Given the description of an element on the screen output the (x, y) to click on. 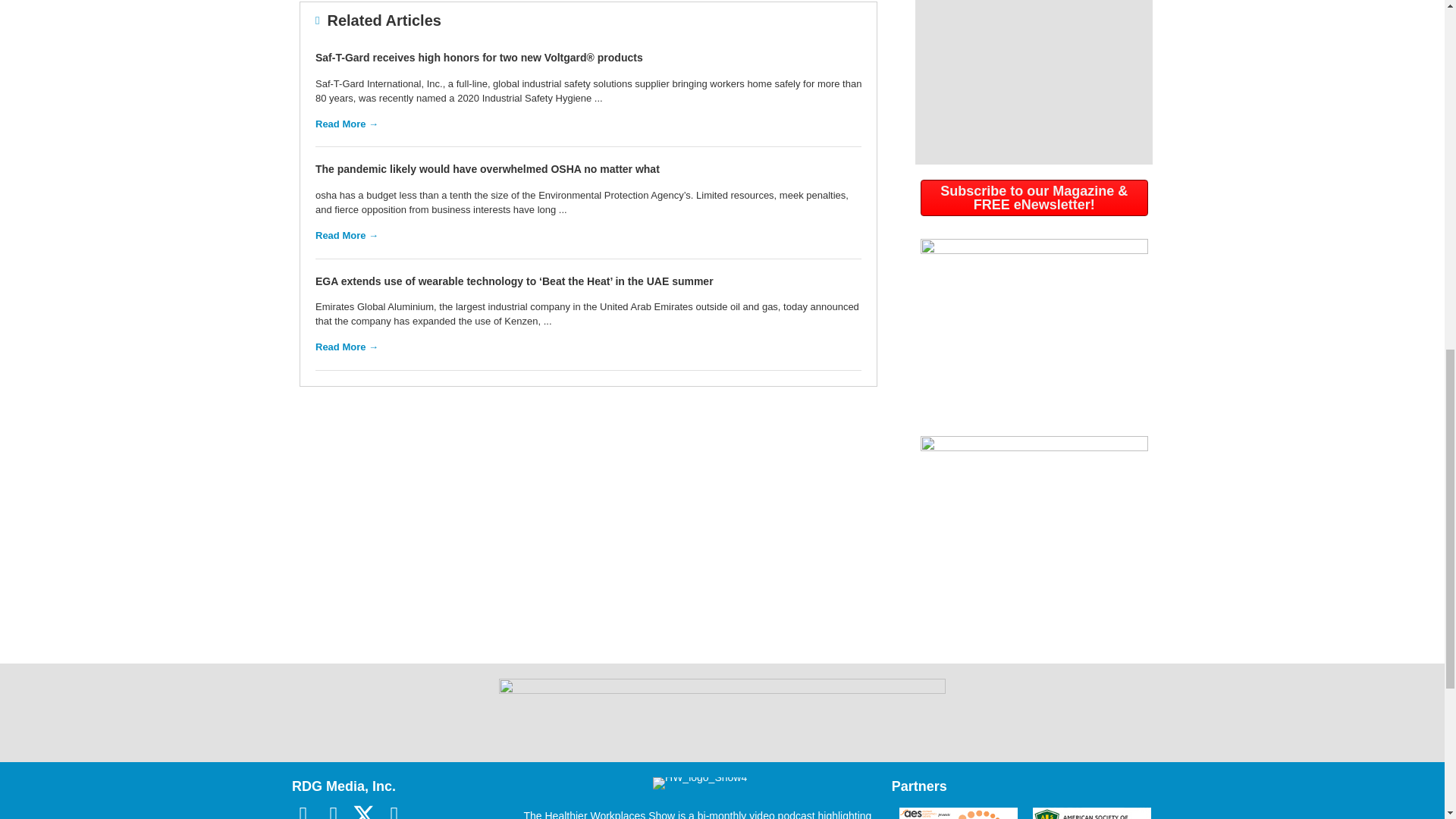
Read More (346, 123)
Read More (346, 346)
Read More (346, 235)
